Given the description of an element on the screen output the (x, y) to click on. 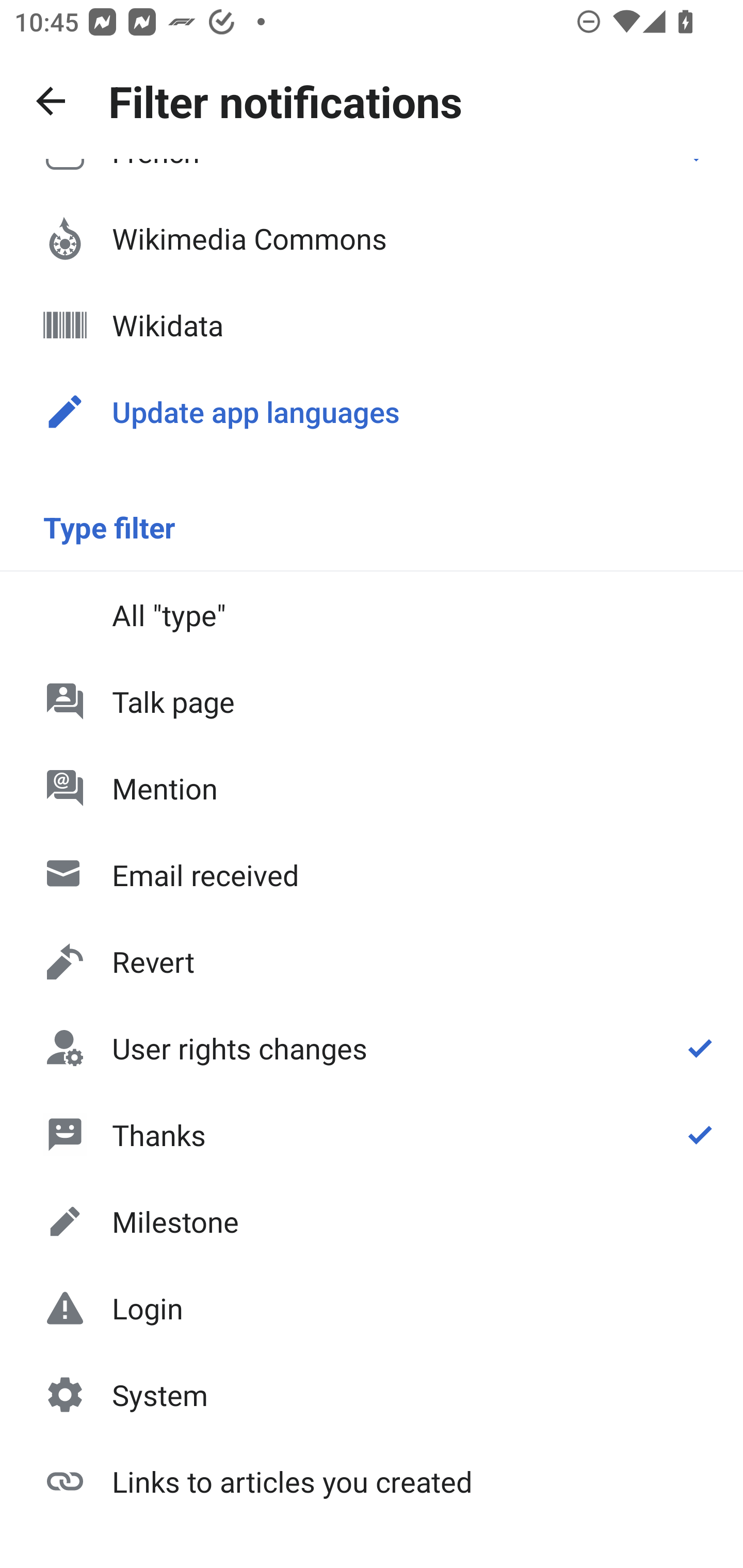
Navigate up (50, 101)
Wikimedia Commons (371, 238)
Wikidata (371, 325)
Update app languages (371, 411)
All "type" (371, 614)
Talk page (371, 701)
Mention (371, 787)
Email received (371, 874)
Revert (371, 961)
User rights changes (371, 1048)
Thanks (371, 1134)
Milestone (371, 1221)
Login (371, 1308)
System (371, 1394)
Links to articles you created (371, 1480)
